Given the description of an element on the screen output the (x, y) to click on. 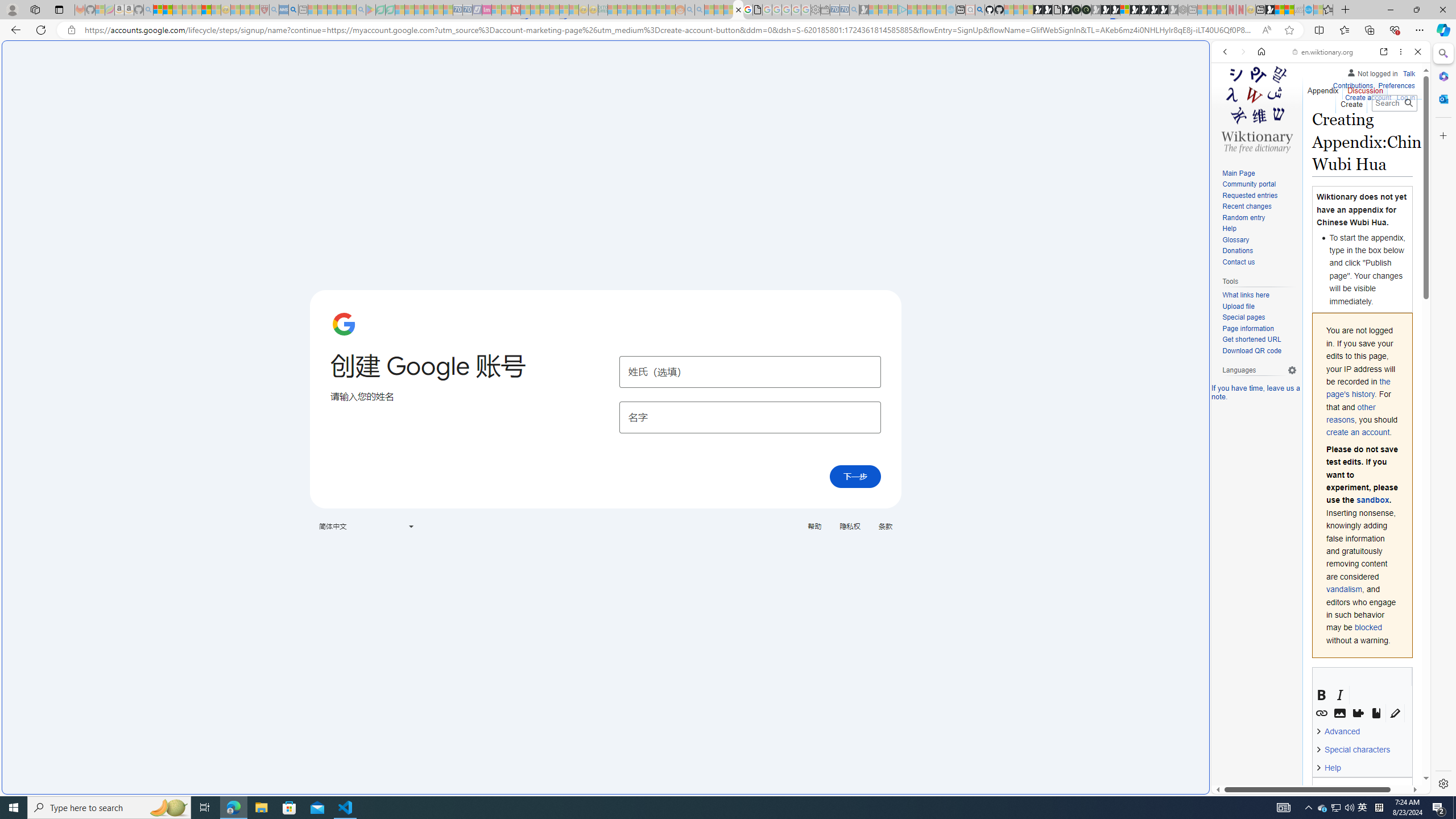
Bold (1321, 695)
Discussion (1365, 87)
Download QR code (1251, 350)
